Given the description of an element on the screen output the (x, y) to click on. 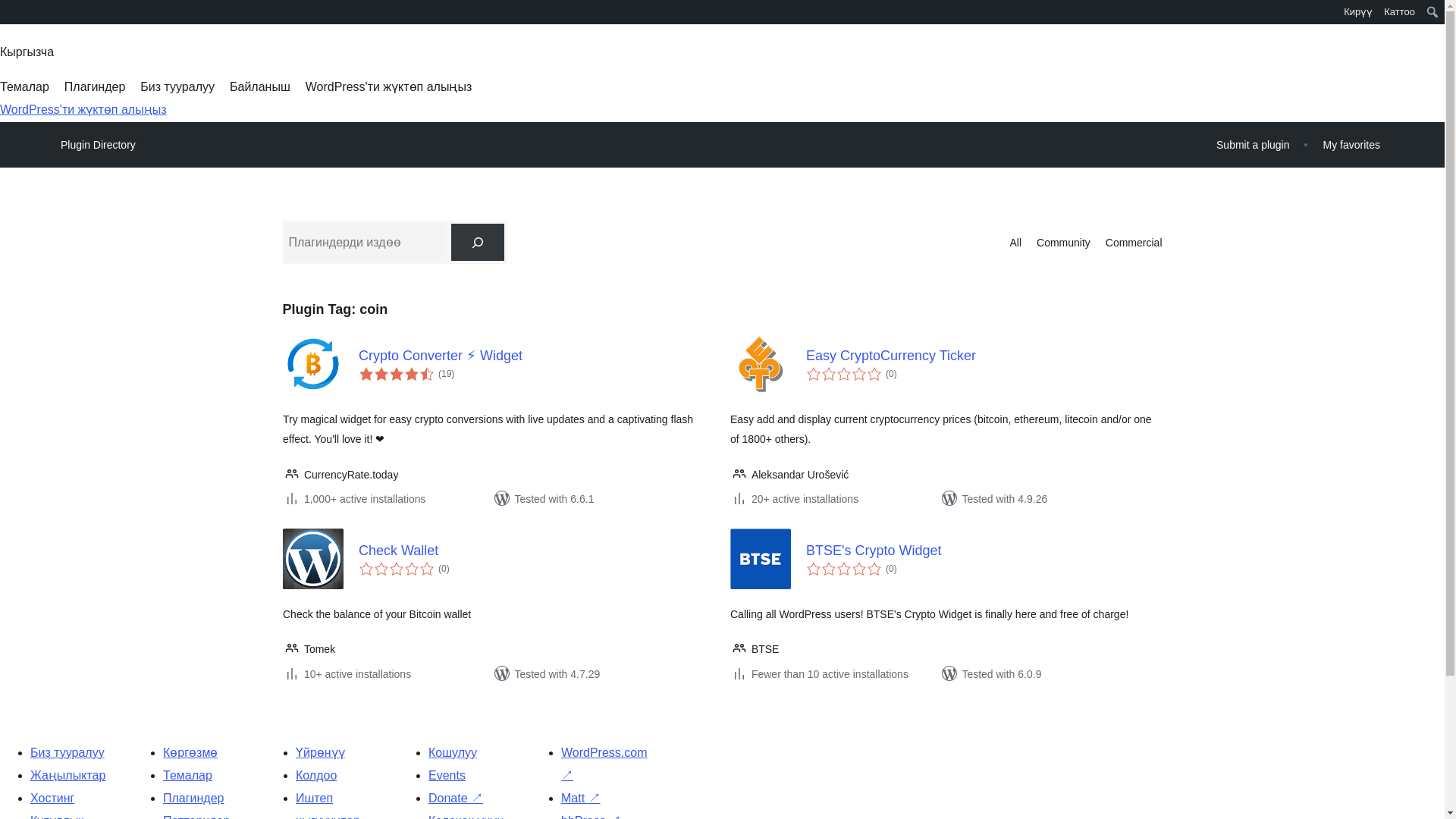
Easy CryptoCurrency Ticker (983, 355)
WordPress.org (10, 10)
Plugin Directory (97, 144)
WordPress.org (10, 16)
Commercial (1133, 242)
Community (1063, 242)
Check Wallet (536, 550)
Submit a plugin (1253, 144)
My favorites (1351, 144)
BTSE's Crypto Widget (983, 550)
